Given the description of an element on the screen output the (x, y) to click on. 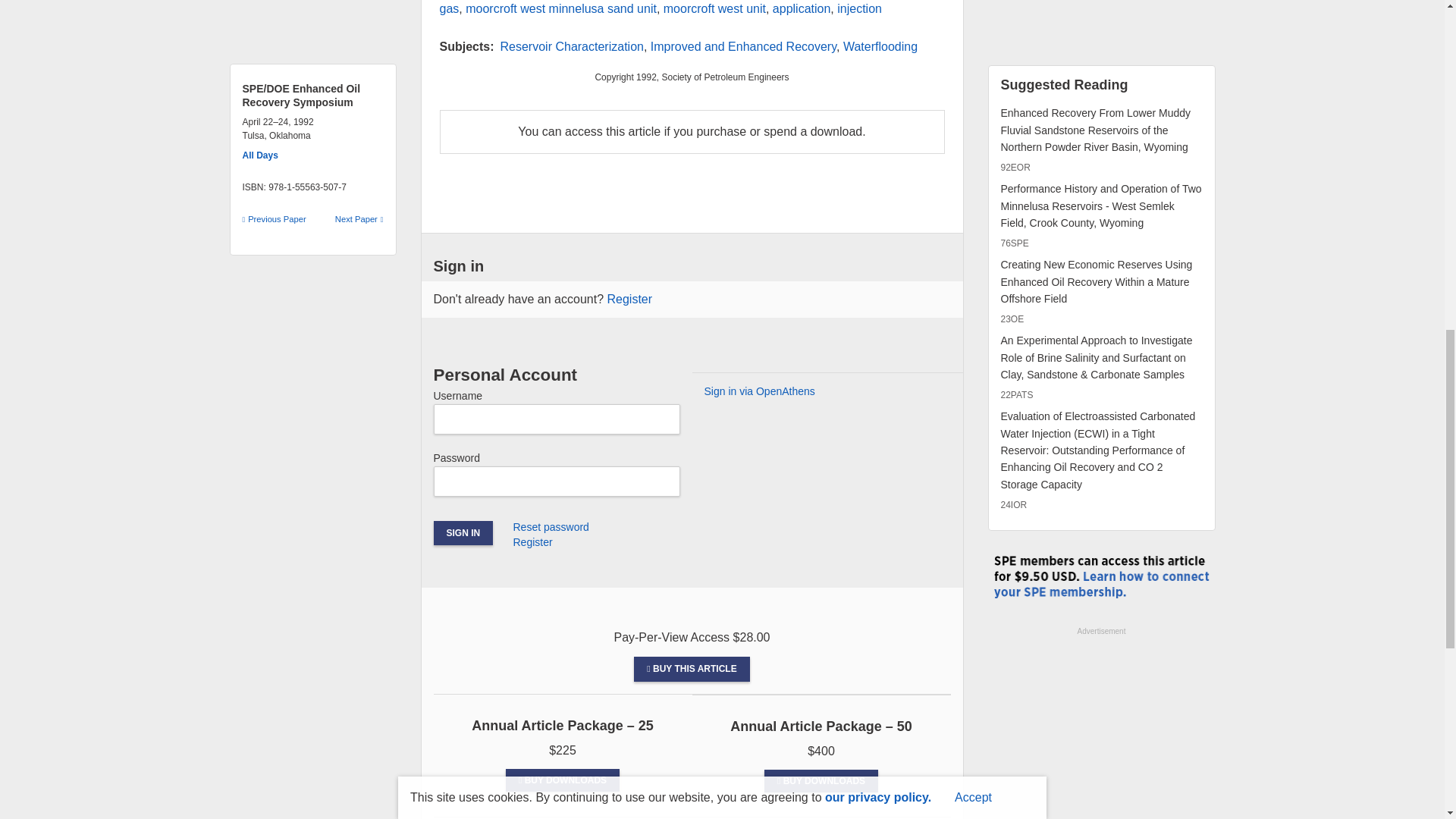
3rd party ad content (1100, 728)
3rd party ad content (1100, 23)
